Given the description of an element on the screen output the (x, y) to click on. 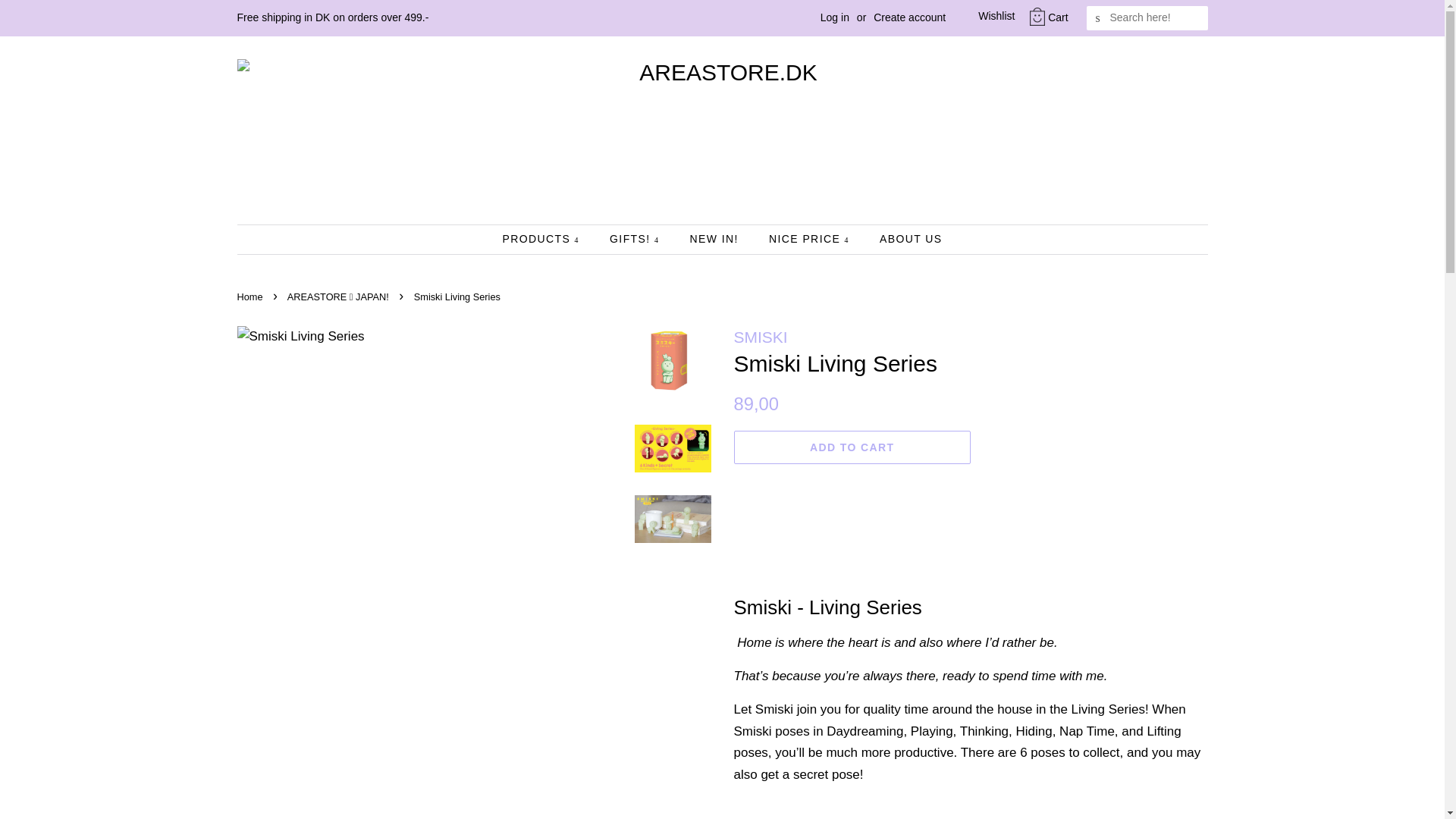
Back to the frontpage (250, 296)
Log in (834, 17)
SEARCH (1097, 18)
Create account (908, 17)
SMISKI (760, 336)
Cart (1057, 18)
Wishlist (984, 16)
